Given the description of an element on the screen output the (x, y) to click on. 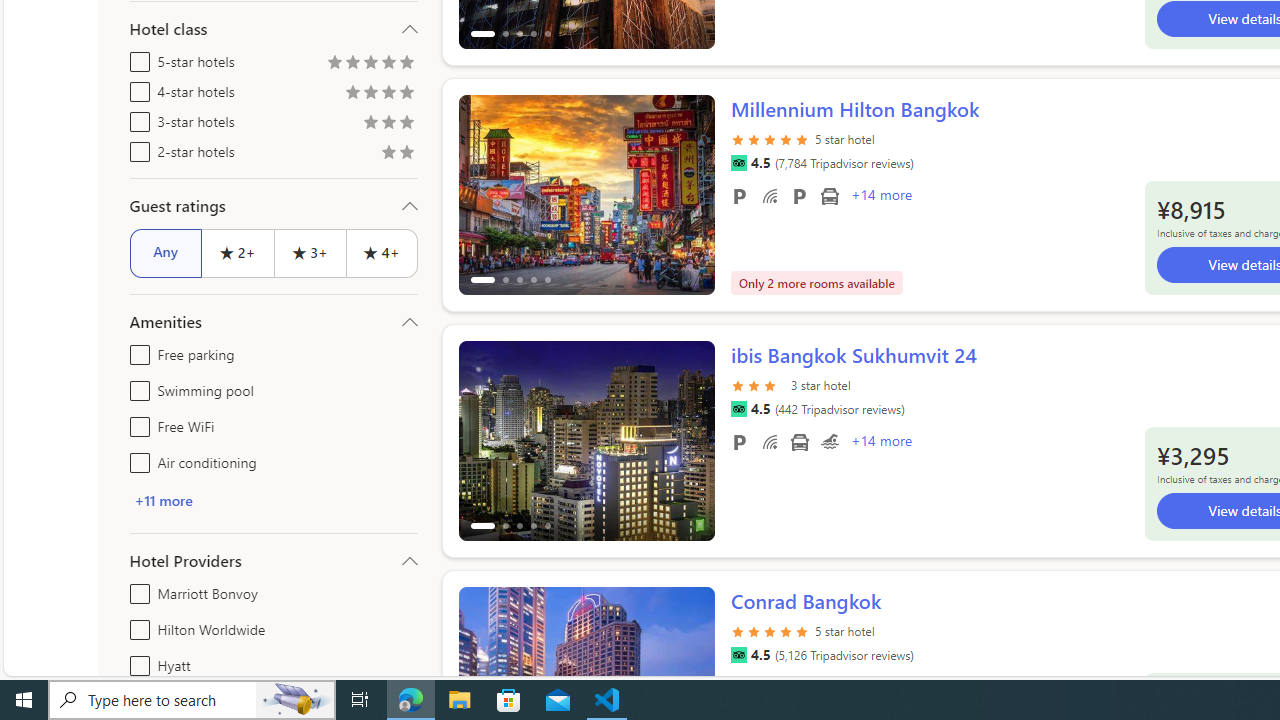
ScrollLeft (482, 678)
Hotel Providers (273, 560)
